Given the description of an element on the screen output the (x, y) to click on. 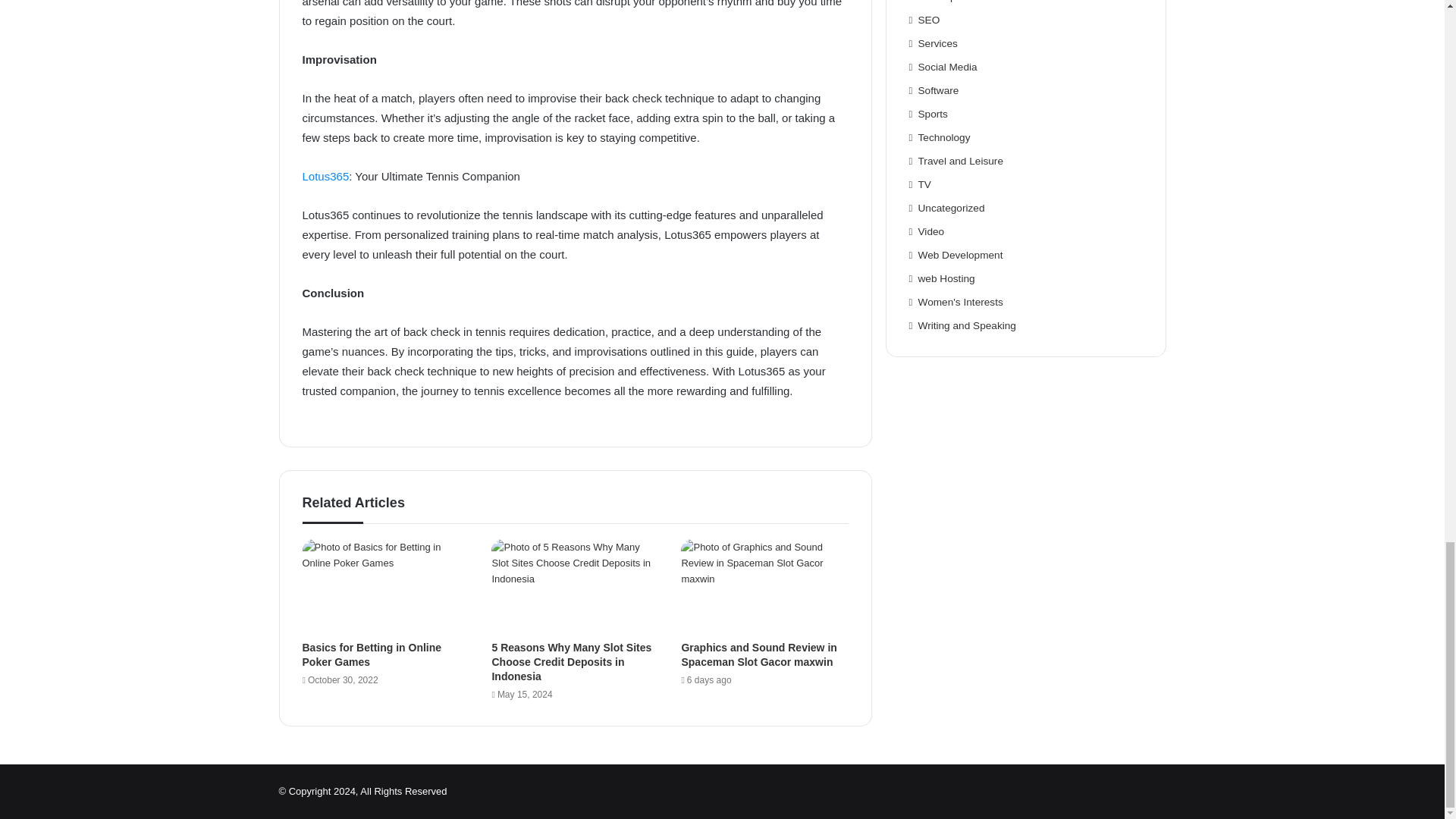
Lotus365 (325, 175)
Basics for Betting in Online Poker Games (371, 654)
